Given the description of an element on the screen output the (x, y) to click on. 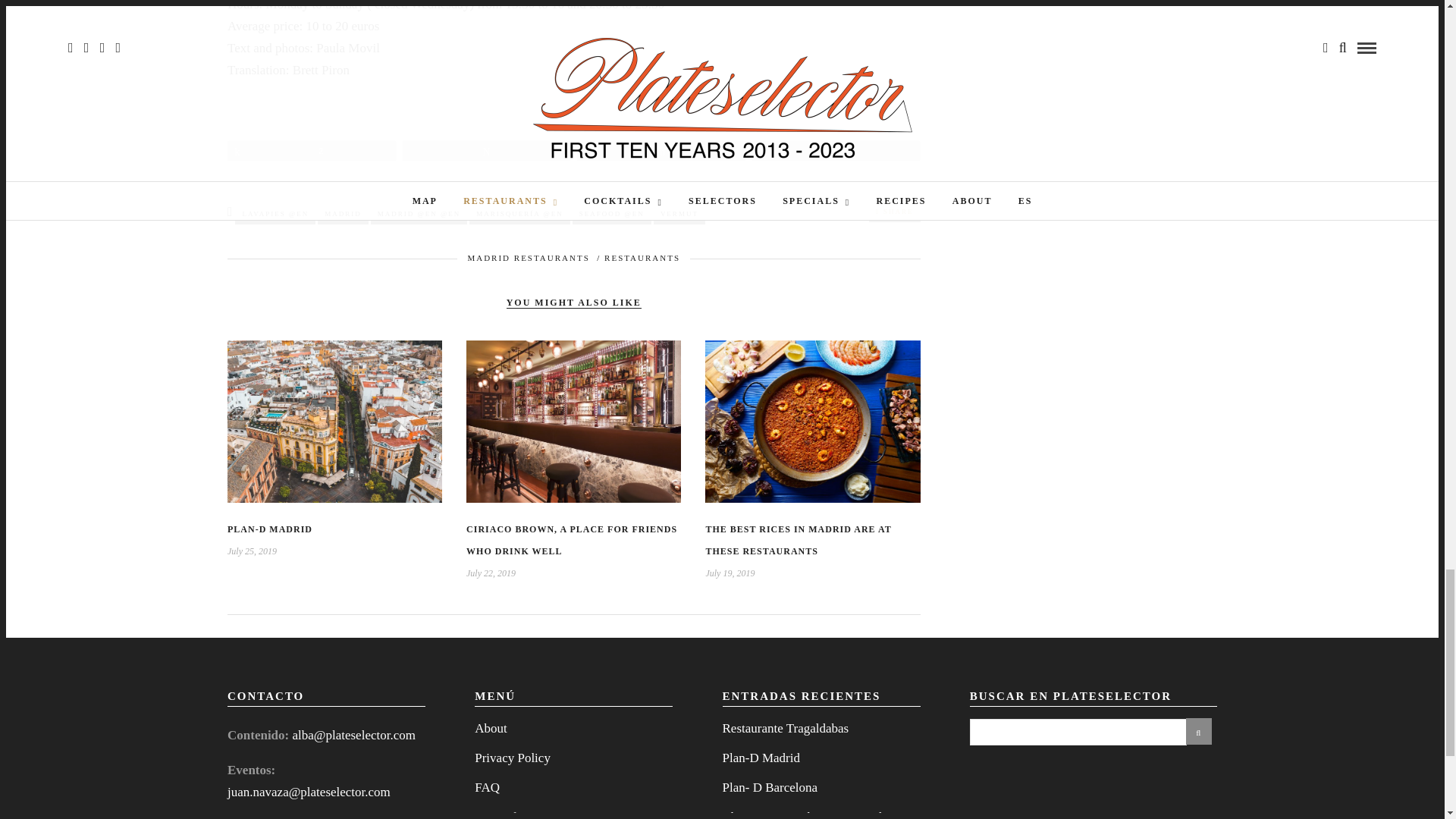
The best rices in Madrid are at these restaurants (797, 540)
Plan-D Madrid (270, 529)
Ciriaco Brown, a place for friends who drink well (571, 540)
